Given the description of an element on the screen output the (x, y) to click on. 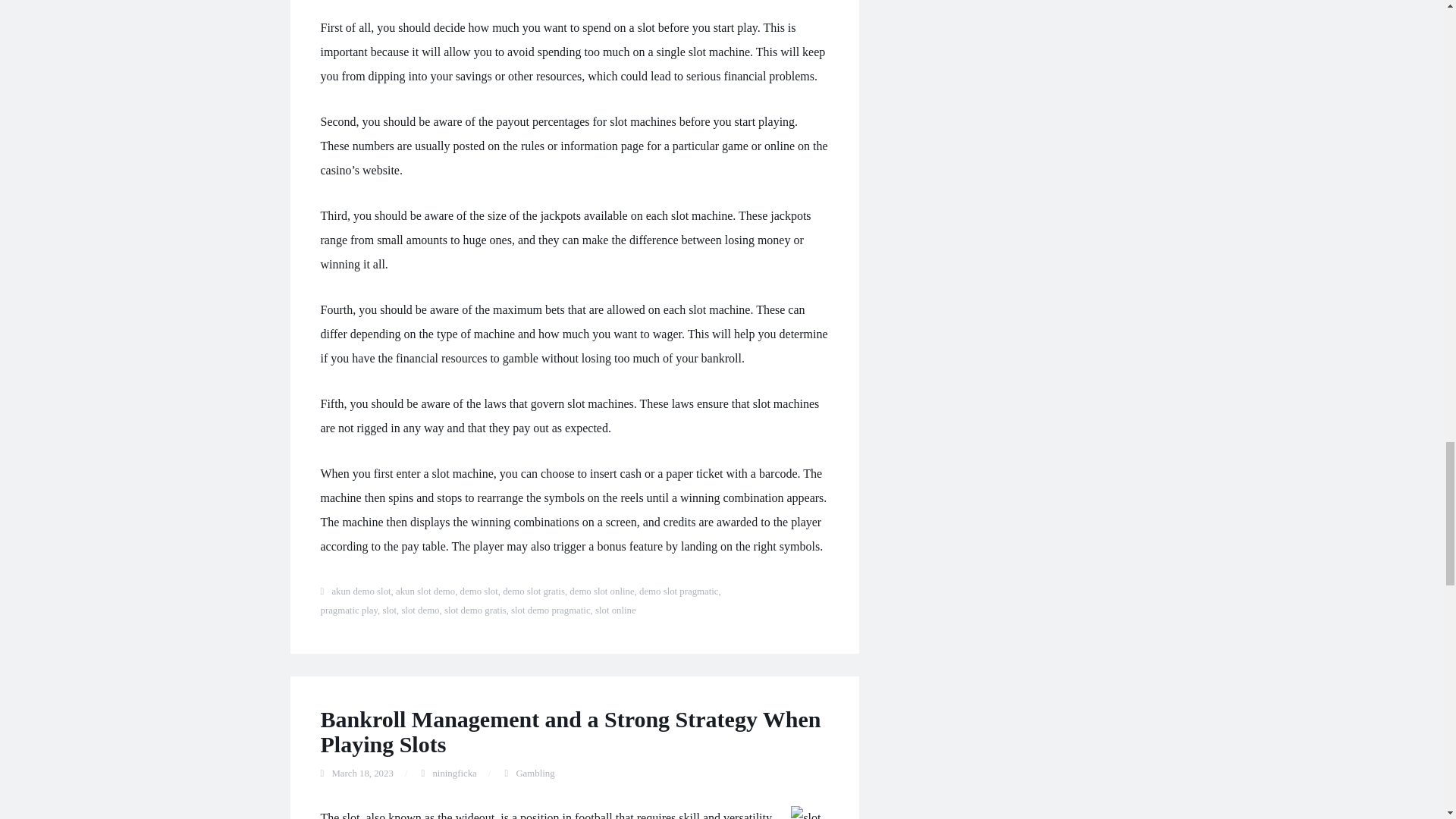
slot demo gratis (475, 610)
Bankroll Management and a Strong Strategy When Playing Slots (570, 731)
akun demo slot (360, 591)
slot demo (420, 610)
slot demo pragmatic (550, 610)
demo slot pragmatic (678, 591)
niningficka (454, 773)
March 18, 2023 (362, 773)
Gambling (534, 773)
demo slot (478, 591)
